Given the description of an element on the screen output the (x, y) to click on. 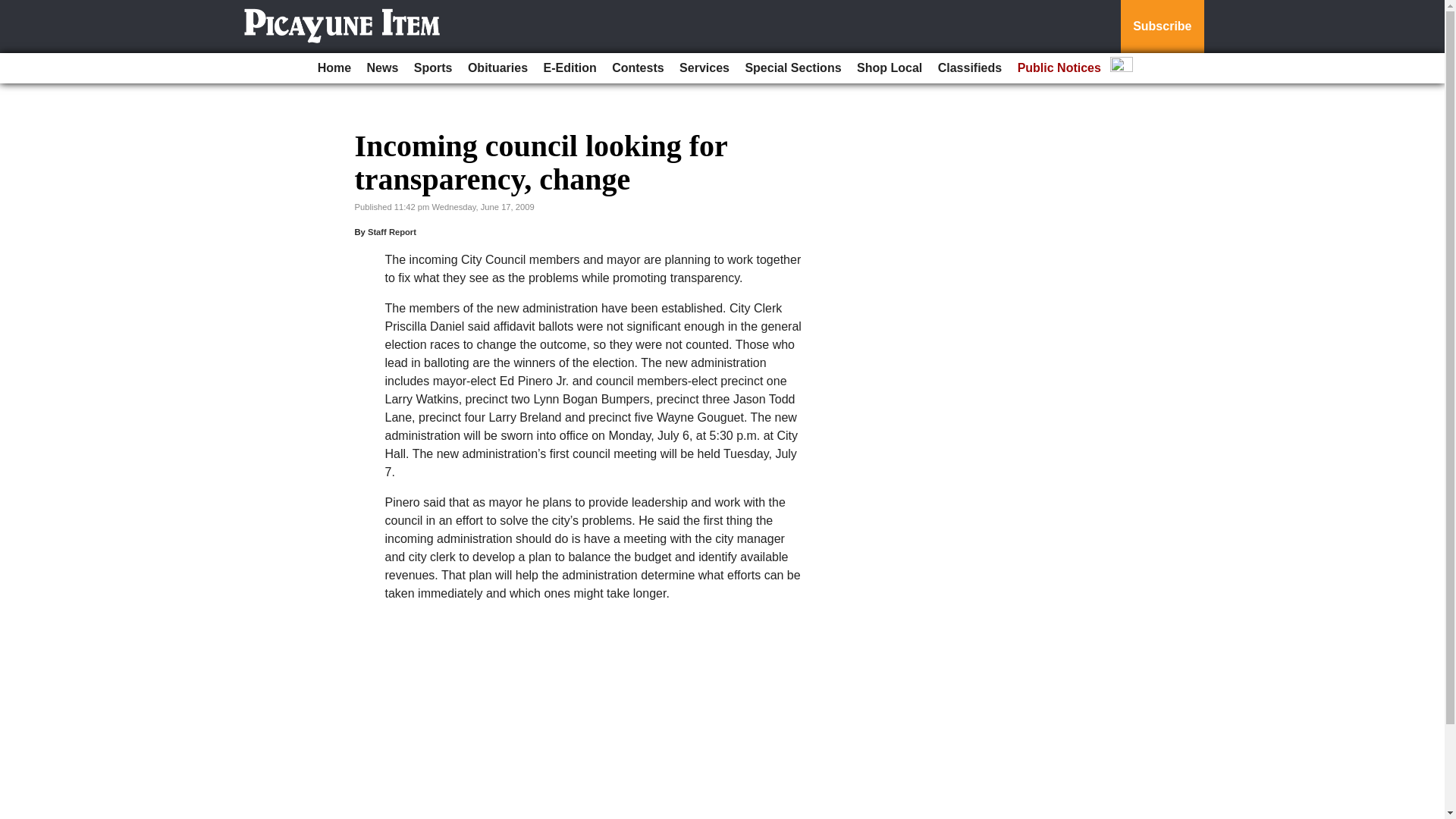
Public Notices (1058, 68)
Staff Report (392, 231)
Sports (432, 68)
Contests (637, 68)
Special Sections (792, 68)
E-Edition (569, 68)
Shop Local (889, 68)
Go (13, 9)
Classifieds (969, 68)
Obituaries (497, 68)
